Given the description of an element on the screen output the (x, y) to click on. 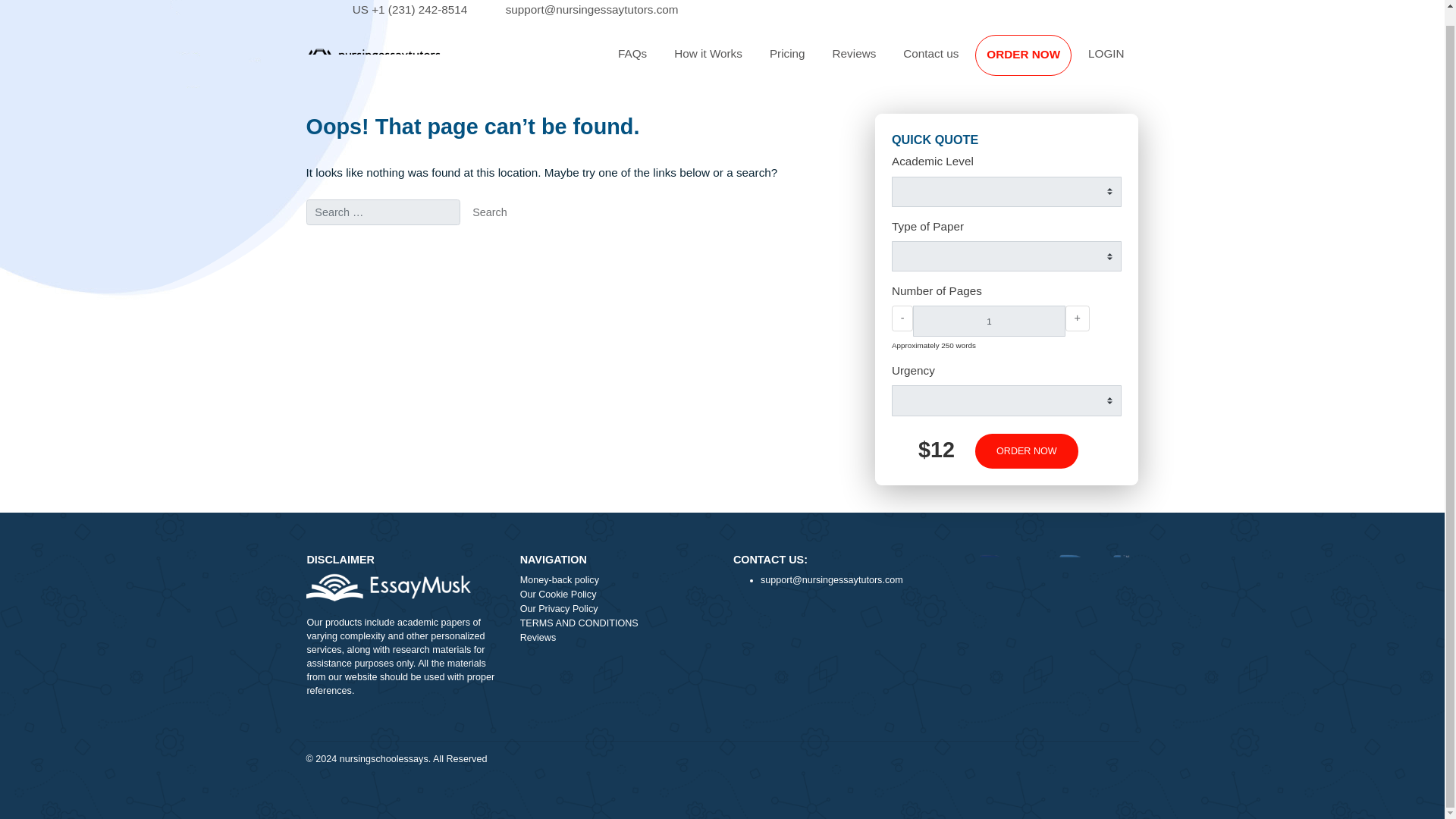
FAQs (702, 61)
Reviews (948, 61)
Search (544, 237)
ORDER NOW (1137, 62)
Search (544, 237)
1 (1098, 358)
How it Works (786, 61)
How it Works (786, 61)
LOGIN (1229, 61)
Money-back policy (685, 647)
Search for: (425, 236)
LOGIN (1229, 61)
Search (544, 237)
Pricing (875, 61)
Contact us (1034, 61)
